Given the description of an element on the screen output the (x, y) to click on. 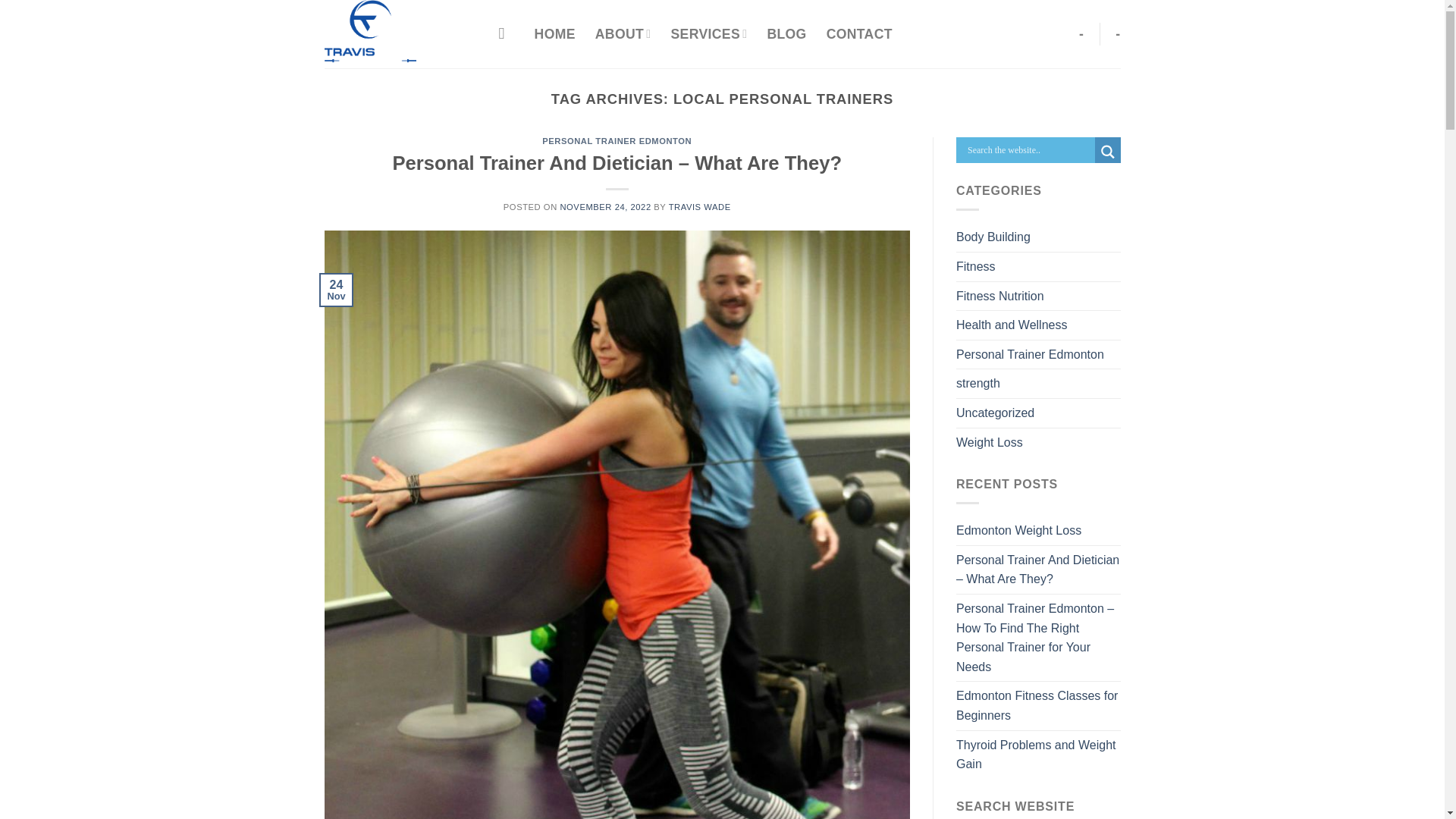
ABOUT (622, 33)
TRAVIS WADE (699, 206)
BLOG (786, 33)
Travis Wade Fitness - Stronger Together (400, 33)
CONTACT (859, 33)
SERVICES (709, 33)
PERSONAL TRAINER EDMONTON (616, 140)
HOME (554, 33)
NOVEMBER 24, 2022 (604, 206)
